Given the description of an element on the screen output the (x, y) to click on. 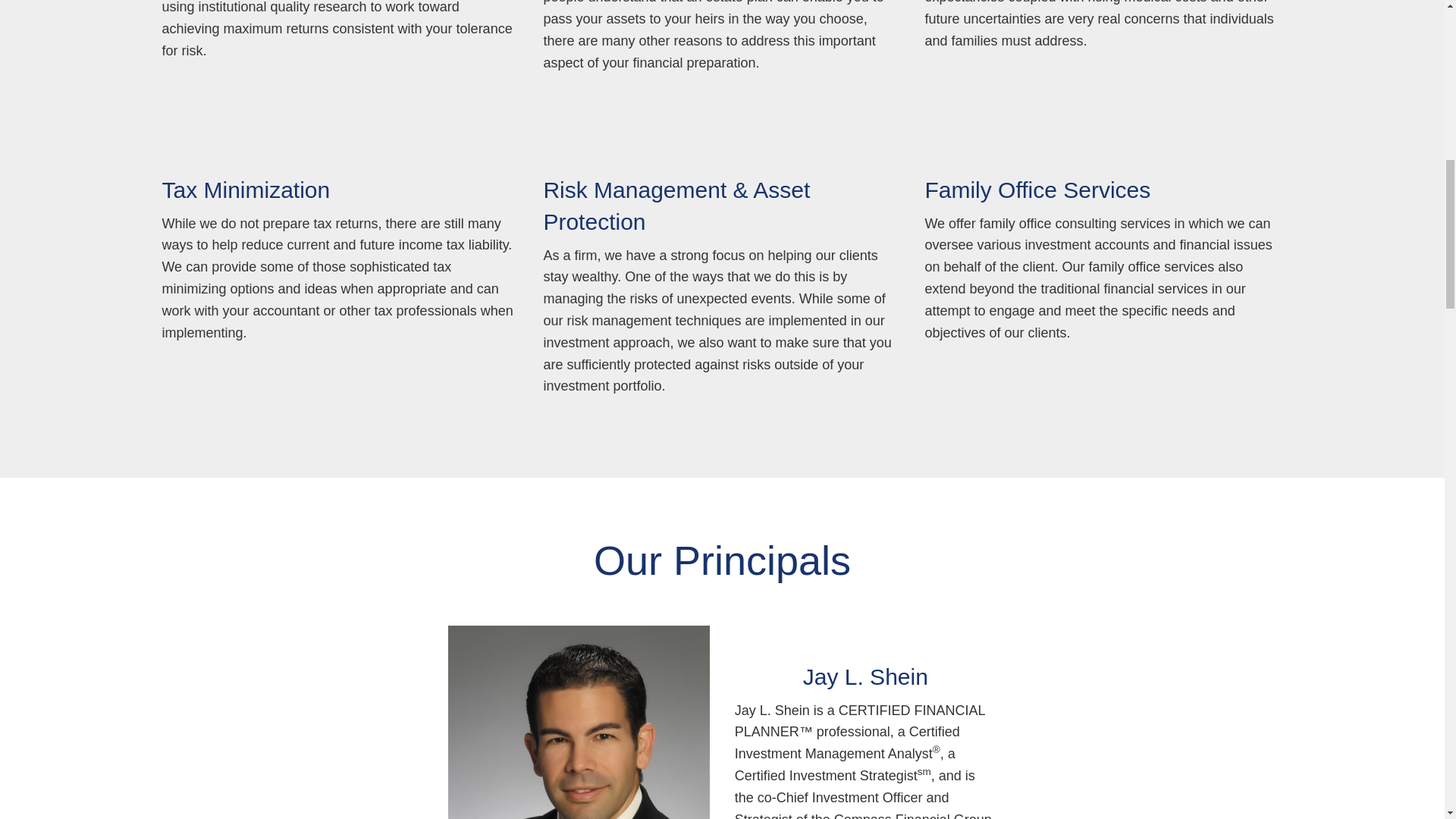
Family Office Services (1037, 189)
Our Principals (722, 560)
Tax Minimization (245, 189)
Jay L. Shein (865, 676)
